Given the description of an element on the screen output the (x, y) to click on. 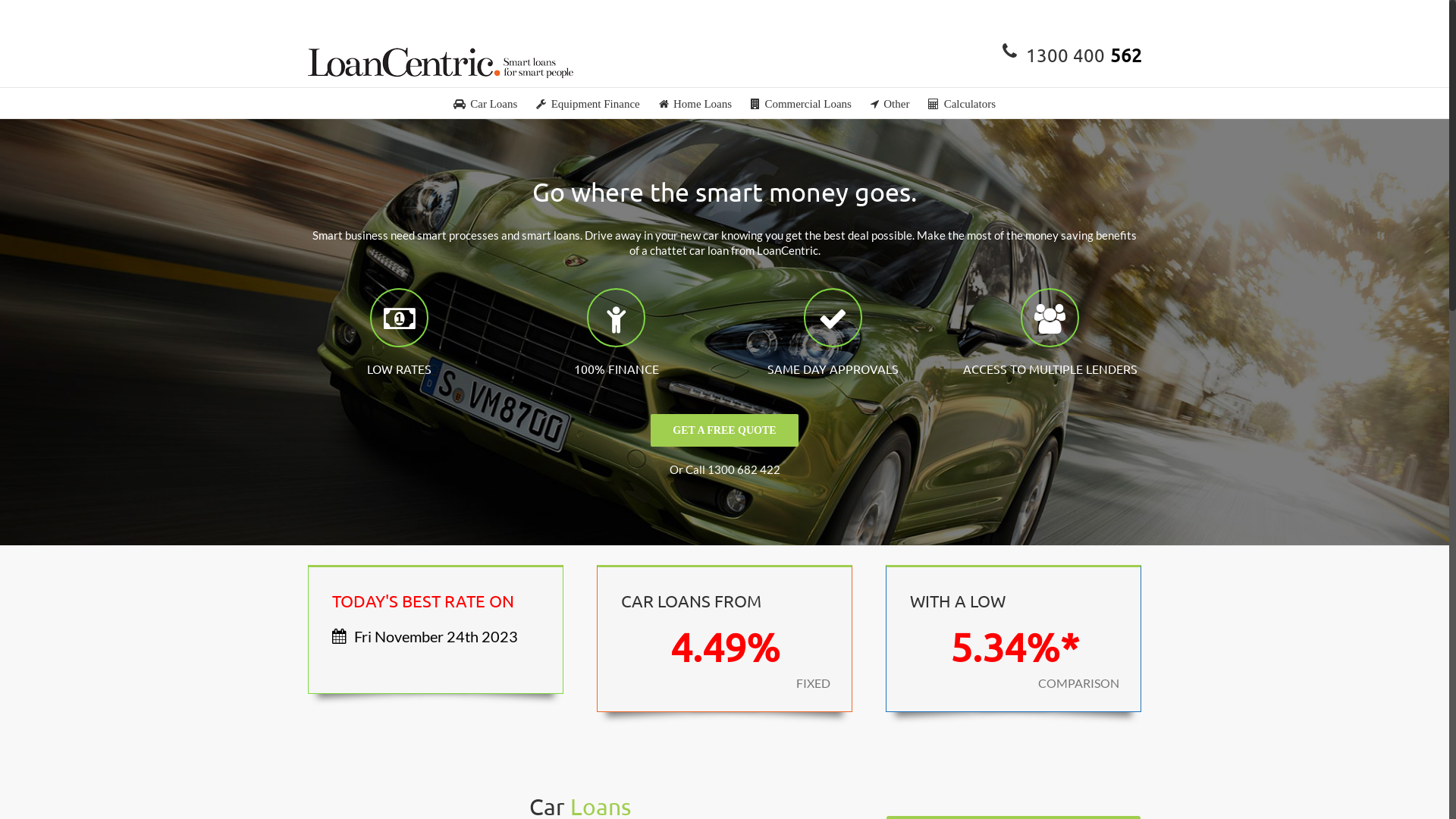
Equipment Finance Element type: text (587, 102)
Car Loans Element type: text (485, 102)
Home Loans Element type: text (694, 102)
Other Element type: text (889, 102)
Calculators Element type: text (961, 102)
GET A FREE QUOTE Element type: text (723, 429)
Commercial Loans Element type: text (800, 102)
